Given the description of an element on the screen output the (x, y) to click on. 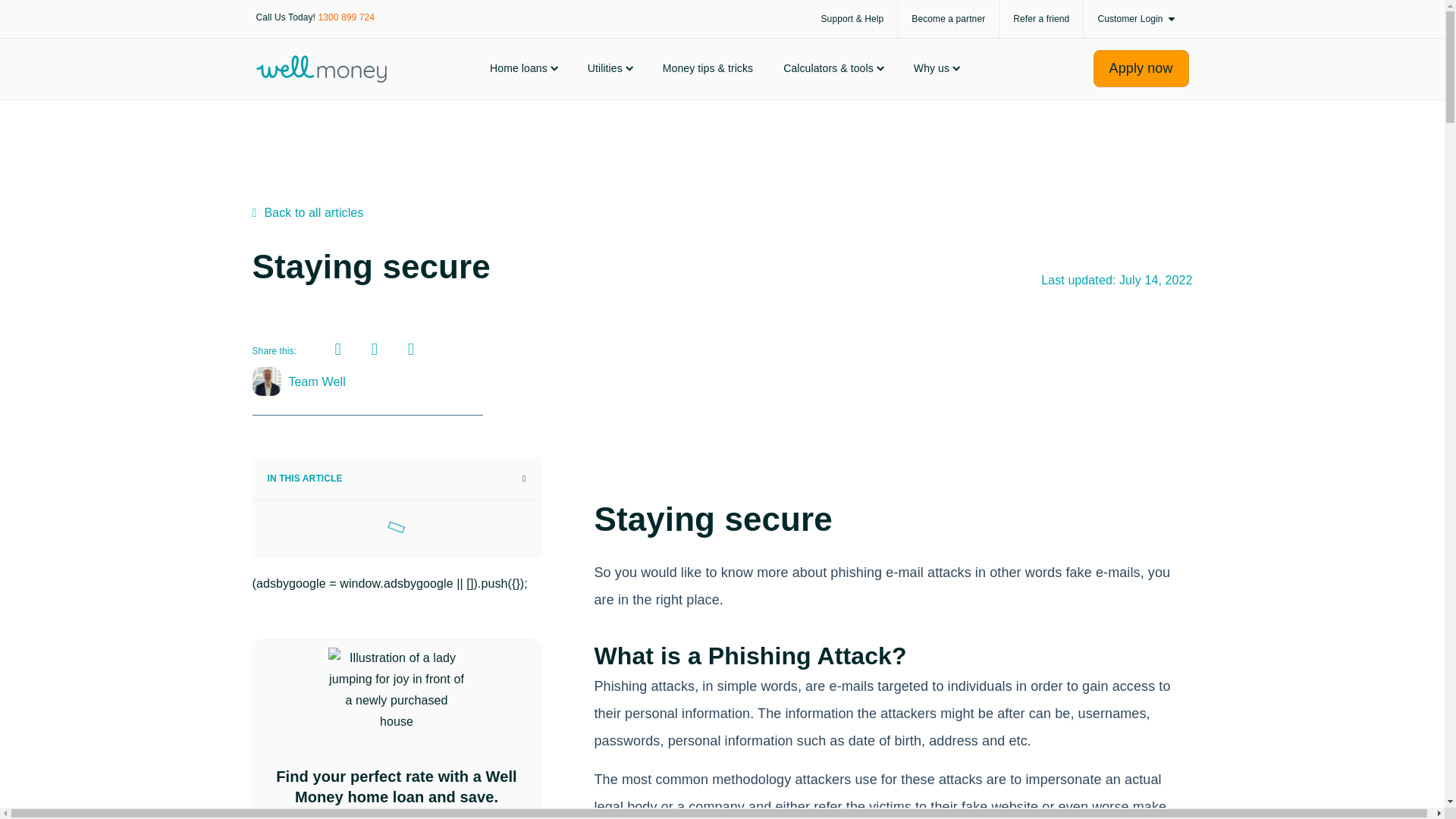
1300 899 724 (345, 17)
Customer Login (1135, 18)
Refer a friend (1040, 18)
Utilities (609, 68)
Become a partner (948, 18)
Home loans (523, 68)
